Given the description of an element on the screen output the (x, y) to click on. 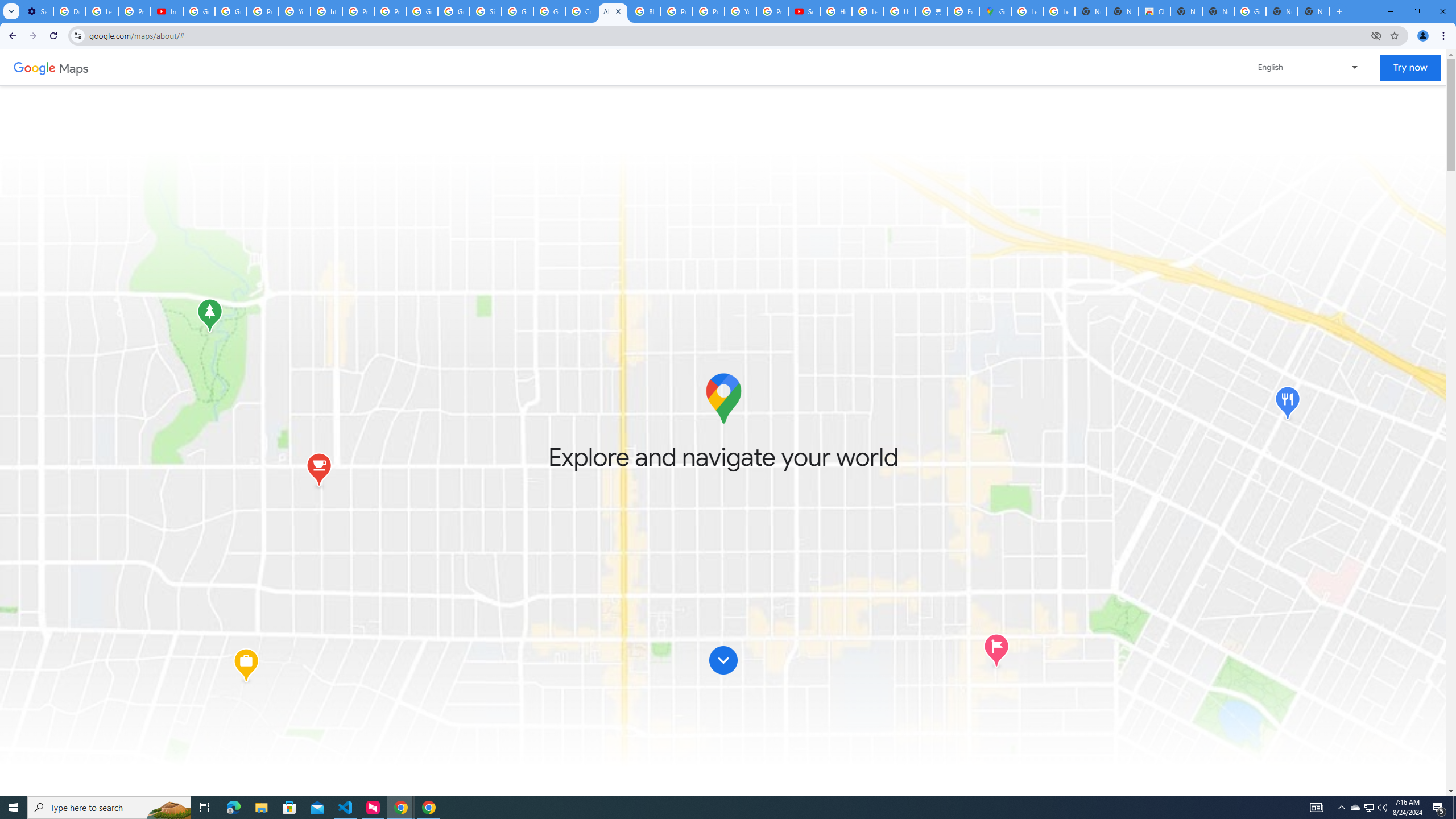
New Tab (1313, 11)
Google Images (1249, 11)
Skip to Content (723, 660)
Google Maps (995, 11)
Maps (73, 67)
Try now (1409, 67)
